Given the description of an element on the screen output the (x, y) to click on. 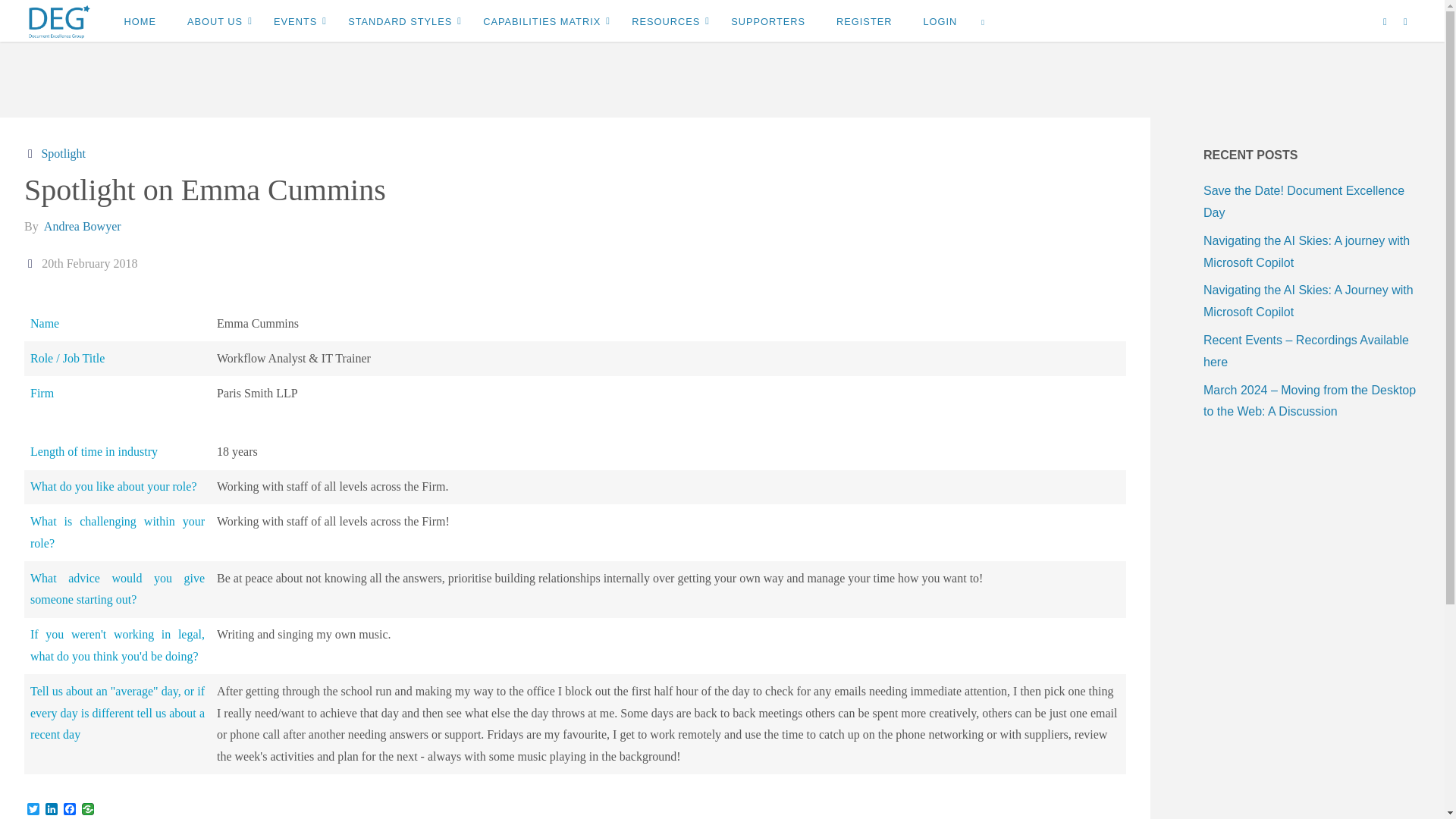
Categories (31, 153)
DEG (59, 20)
LinkedIn (51, 810)
Facebook (69, 810)
Date (31, 263)
Twitter (33, 810)
View all posts by Andrea Bowyer (81, 226)
